Given the description of an element on the screen output the (x, y) to click on. 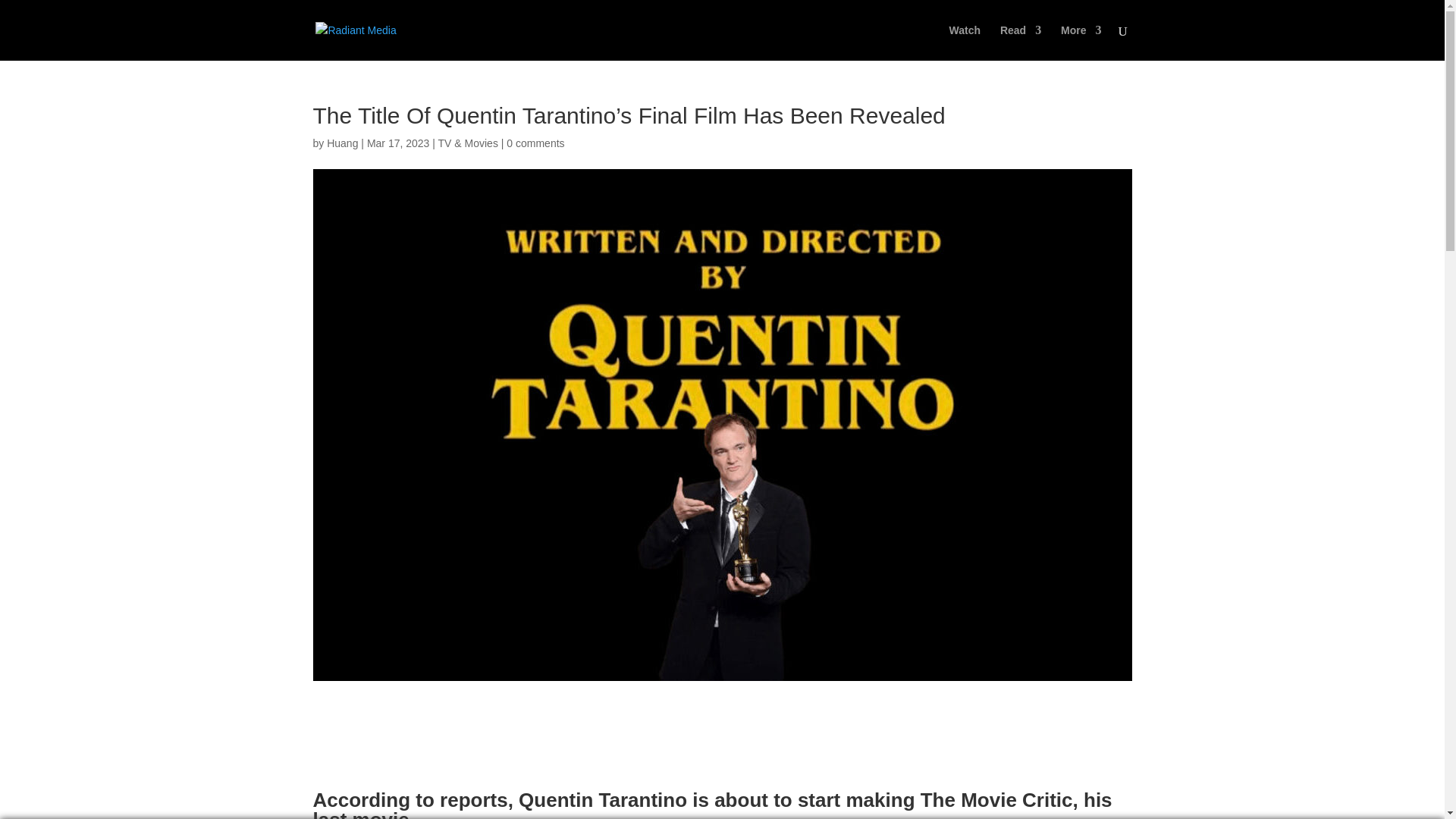
More (1080, 42)
0 comments (535, 143)
Read (1020, 42)
Posts by Huang (342, 143)
Huang (342, 143)
